Given the description of an element on the screen output the (x, y) to click on. 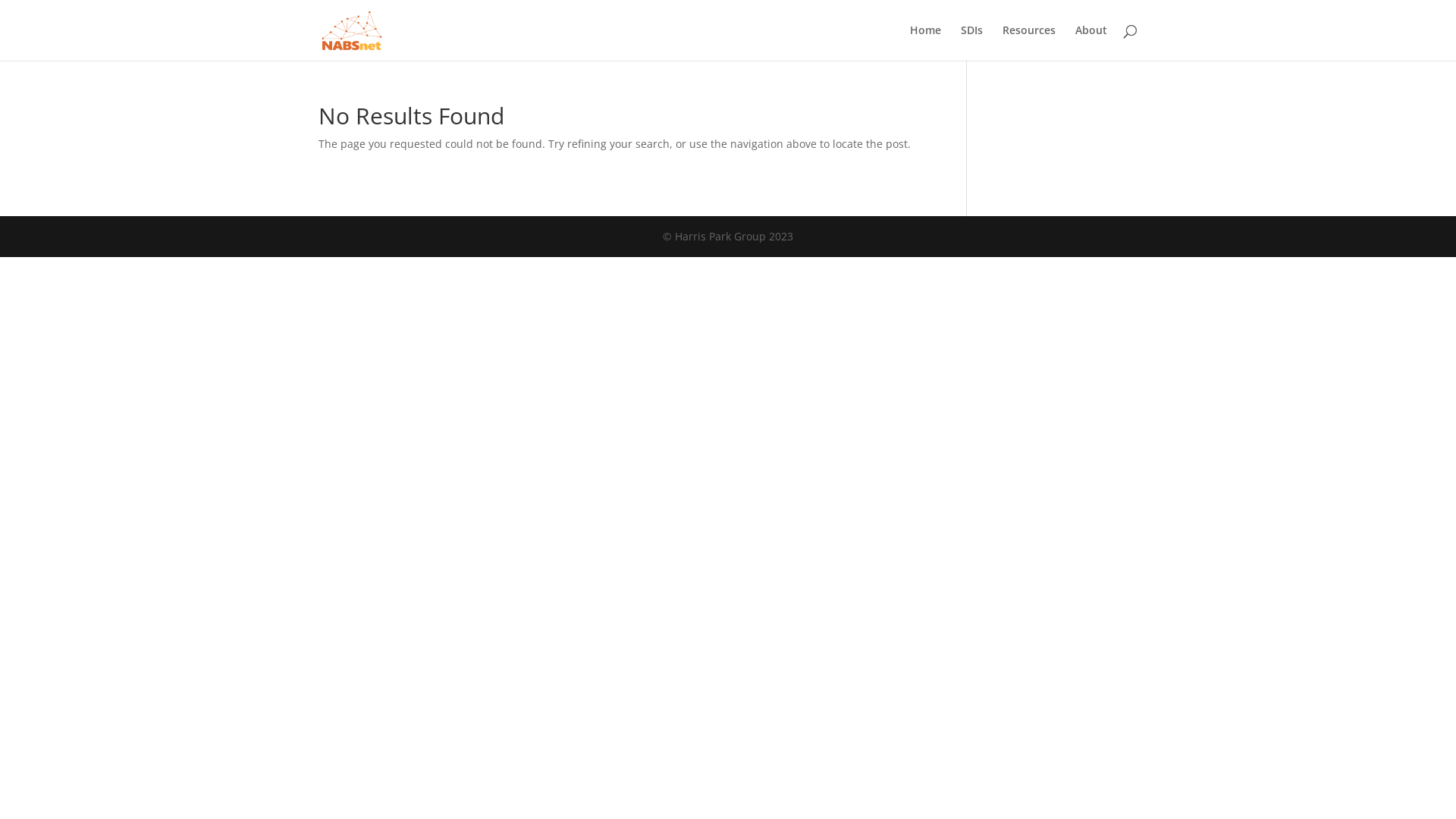
About Element type: text (1091, 42)
SDIs Element type: text (971, 42)
Resources Element type: text (1028, 42)
Home Element type: text (925, 42)
